Given the description of an element on the screen output the (x, y) to click on. 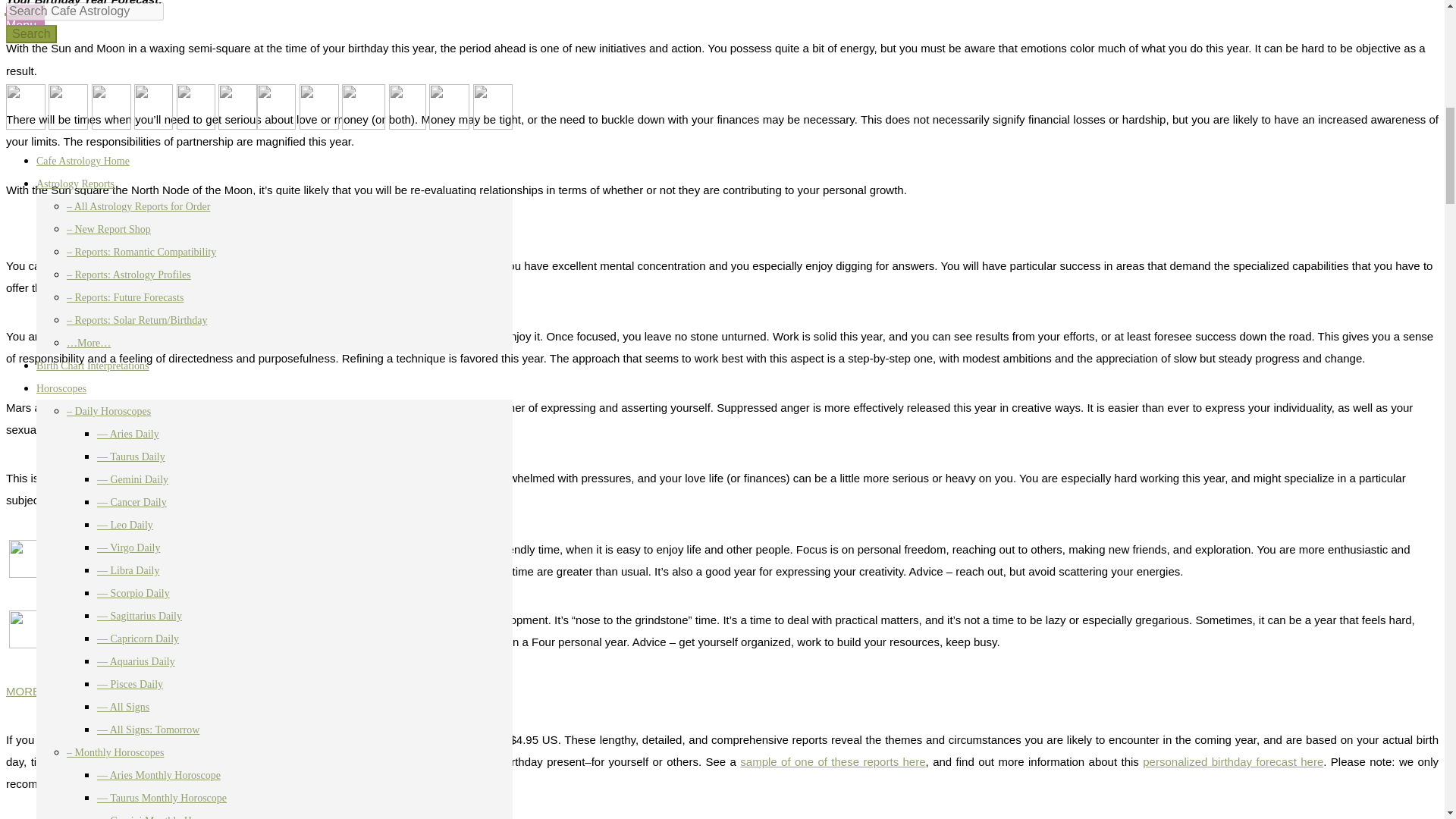
personalized birthday forecast here (1232, 761)
Solar Return Yearly Forecast Report (396, 739)
sample of one of these reports here (831, 761)
MORE BIRTHDAYS (56, 690)
